Given the description of an element on the screen output the (x, y) to click on. 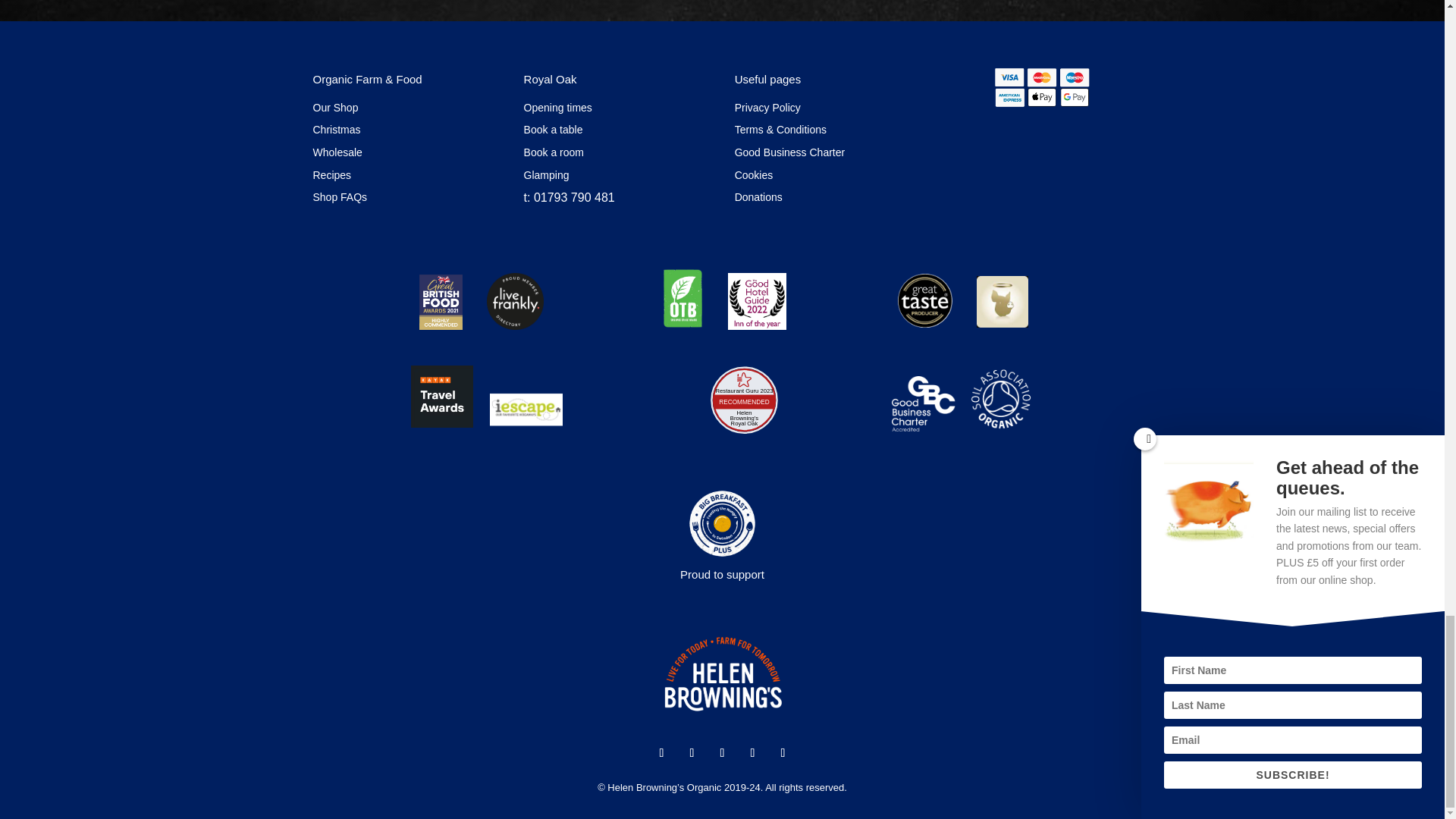
Follow on TikTok (782, 752)
Follow on Pinterest (751, 752)
HBO-logo-footer-01 (722, 673)
Follow on Instagram (721, 752)
Follow on Facebook (660, 752)
Follow on X (691, 752)
